Given the description of an element on the screen output the (x, y) to click on. 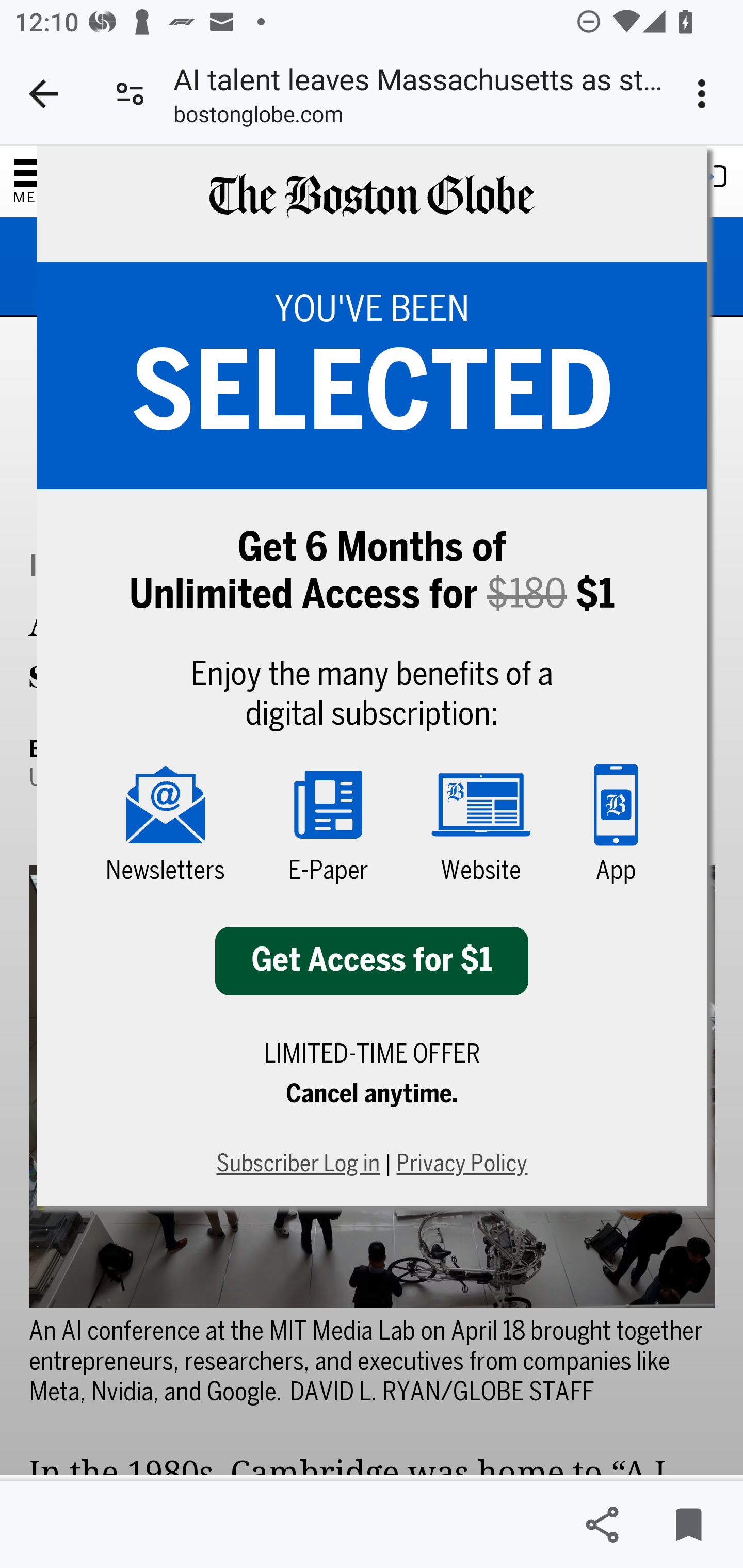
Close tab (43, 93)
Customize and control Google Chrome (705, 93)
Connection is secure (129, 93)
bostonglobe.com (258, 117)
The Boston Globe (370, 205)
YOU'VE BEEN SELECTED YOU'VE BEEN
SELECTED (372, 375)
Get Access for $1 (371, 961)
Subscriber Log in (297, 1164)
Privacy Policy (462, 1164)
Share (601, 1524)
Remove from saved stories (688, 1524)
